Given the description of an element on the screen output the (x, y) to click on. 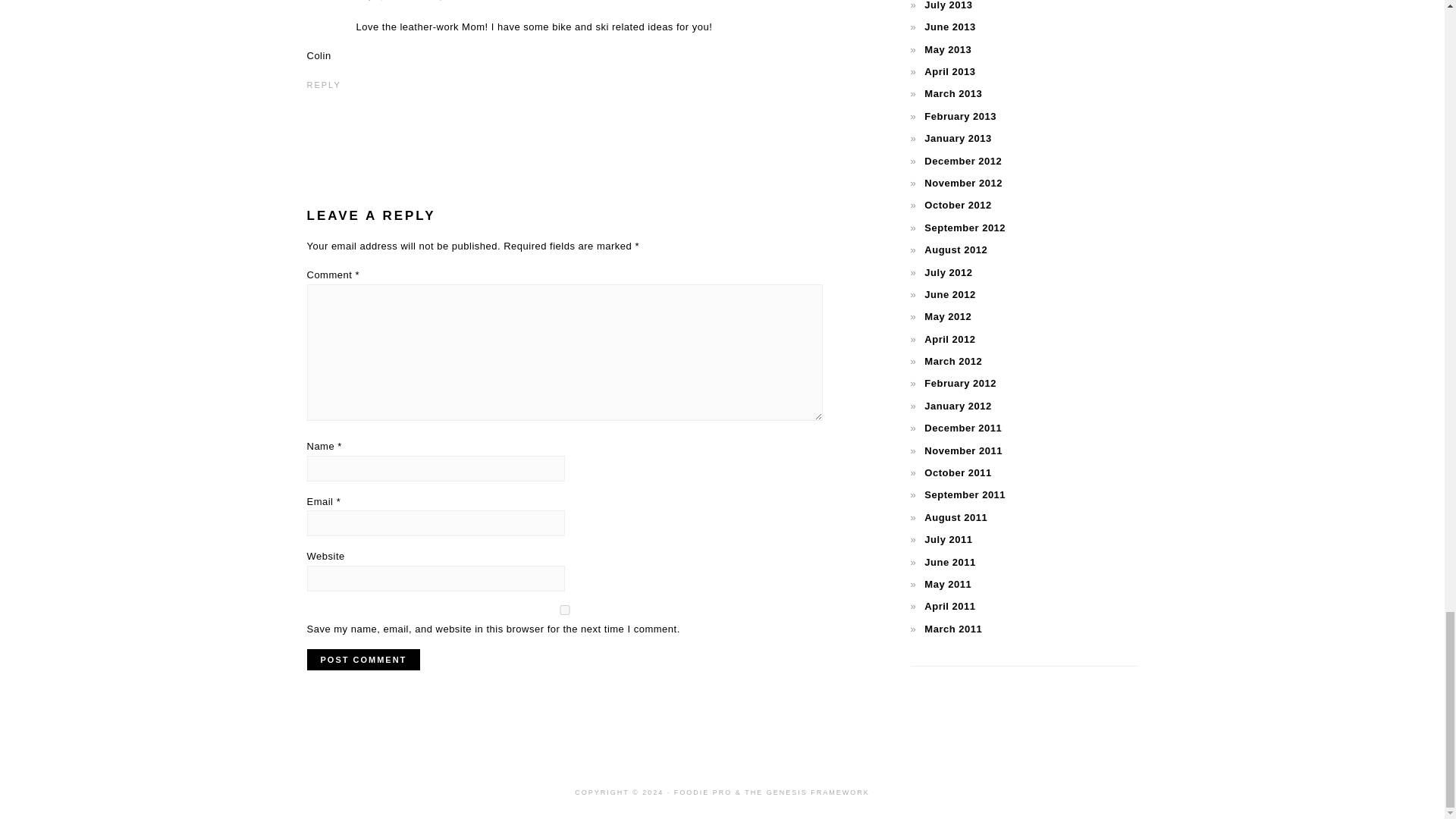
REPLY (322, 84)
Post Comment (362, 659)
yes (563, 609)
Post Comment (362, 659)
